Given the description of an element on the screen output the (x, y) to click on. 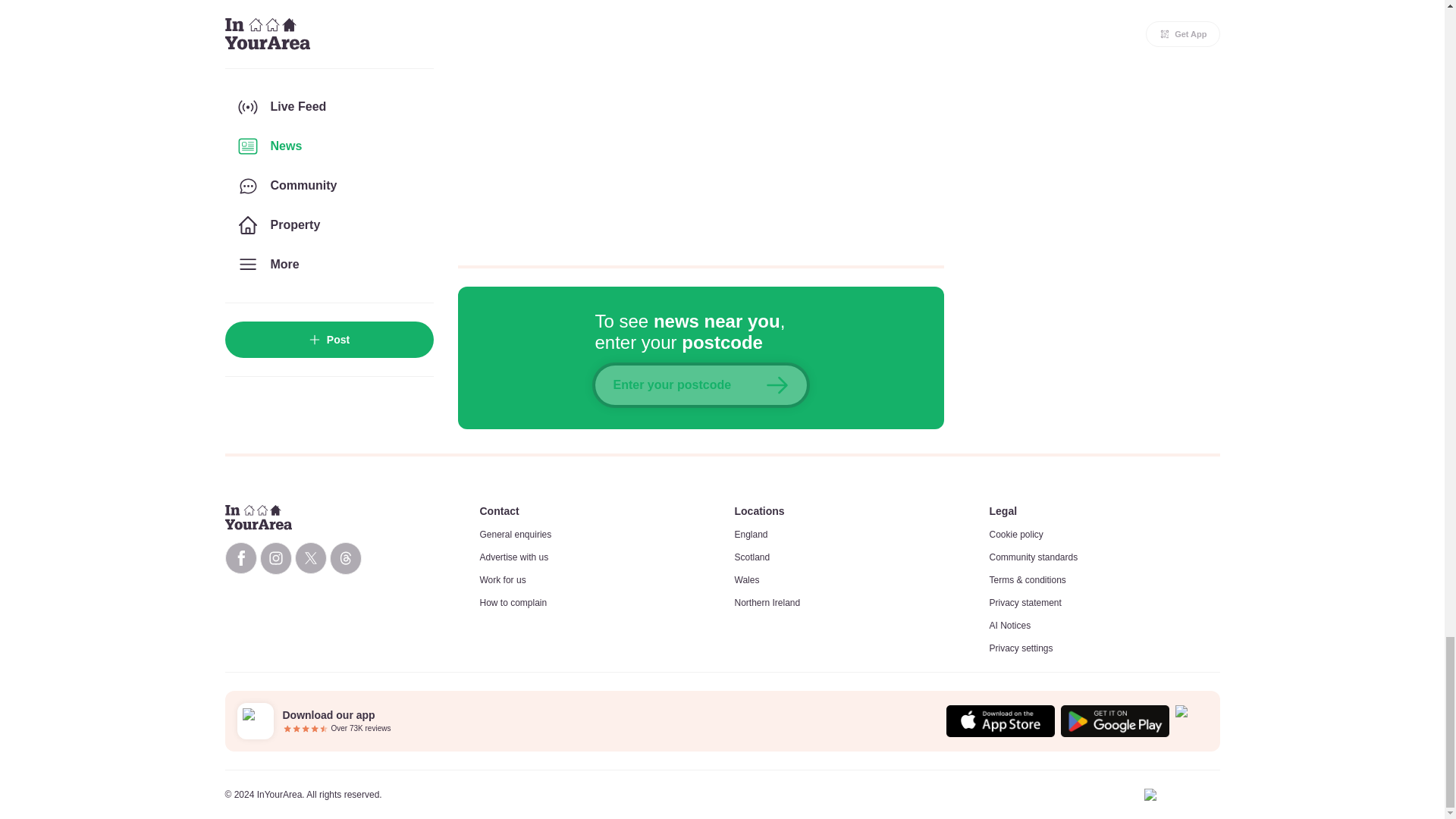
InYourArea Threads (345, 558)
InYourArea X (310, 558)
comments (701, 122)
InYourArea Instagram (275, 558)
InYourArea Facebook (240, 558)
